Given the description of an element on the screen output the (x, y) to click on. 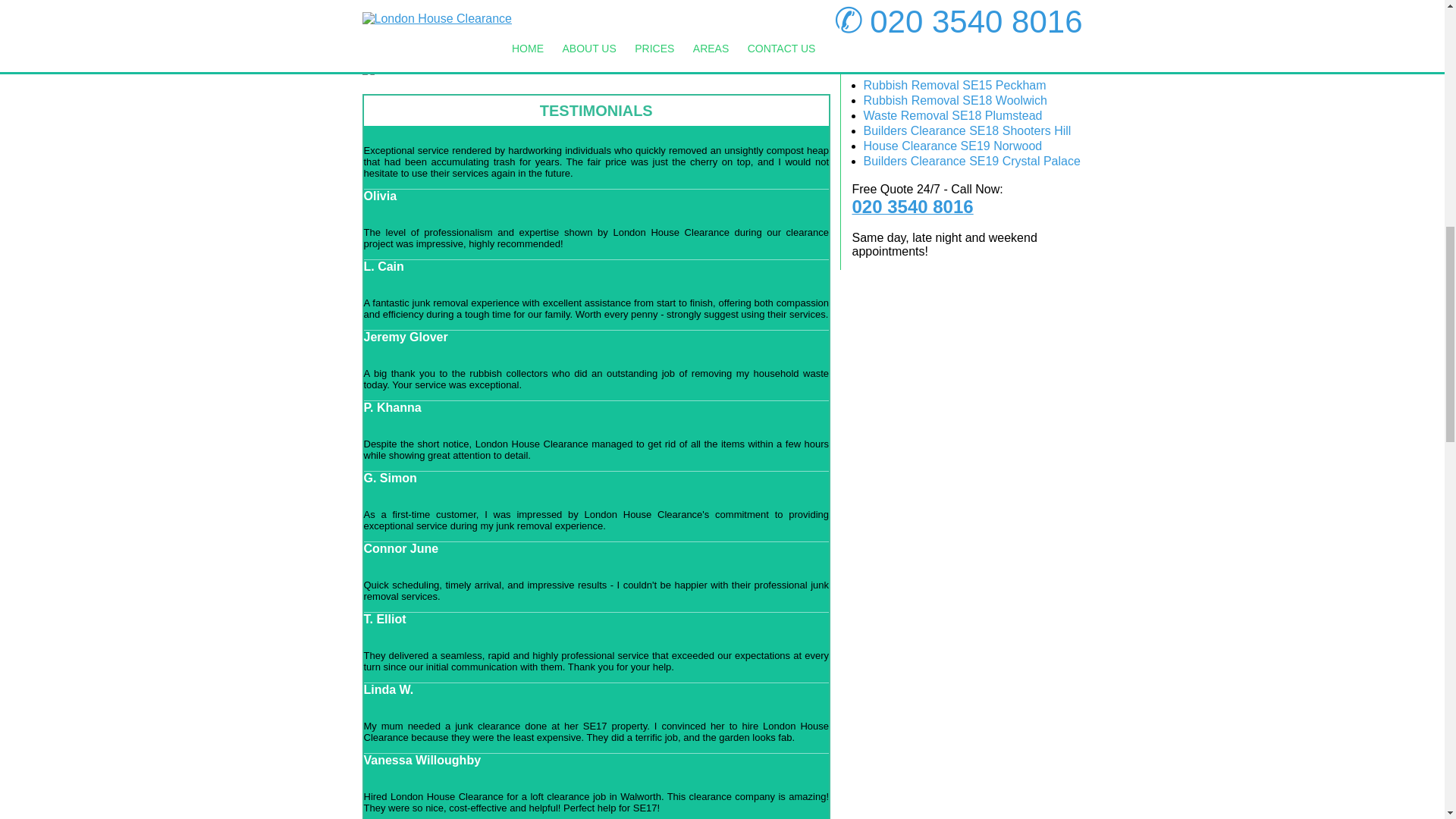
Rubbish Removal SE18 Woolwich (954, 100)
Waste Removal SE18 Plumstead (952, 115)
020 3540 8016 (967, 206)
House Clearance SE19 Norwood (952, 145)
Builders Clearance SE19 Crystal Palace (971, 160)
Waste Removal SE16 Rotherhithe (954, 54)
Rubbish Removal SE15 Peckham (954, 84)
Rubbish Clearance SE15 Nunhead (957, 69)
Garden Clearance SE16 Canada Water (969, 39)
Builders Clearance SE18 Shooters Hill (966, 130)
Builders Clearance SE16 Surrey Quays (969, 24)
